Given the description of an element on the screen output the (x, y) to click on. 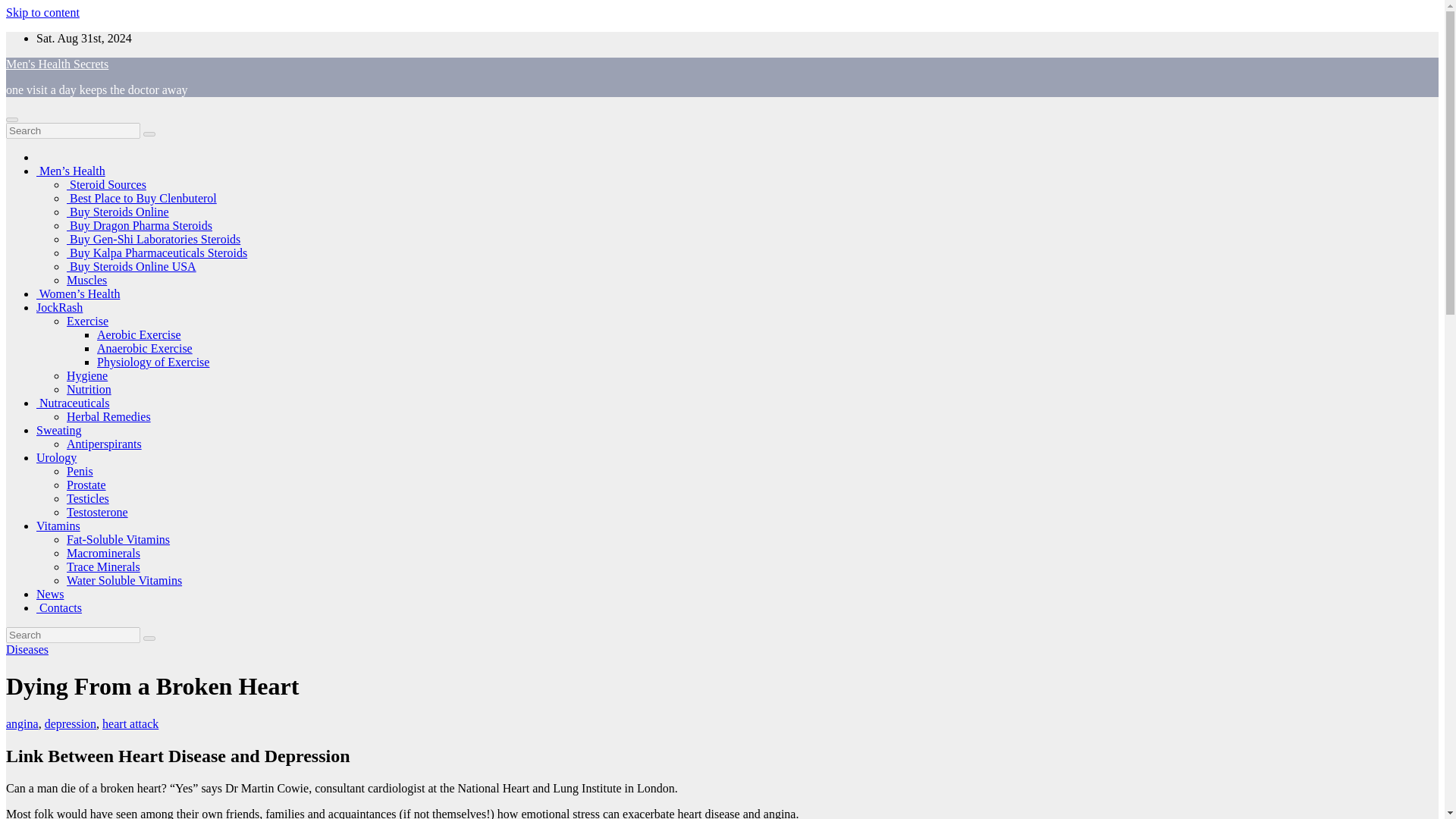
Physiology of Exercise (153, 361)
Legal Gen-Shi Laboratories Steroids (153, 238)
 Buy Steroids Online (117, 211)
 Buy Dragon Pharma Steroids (139, 225)
Antiperspirants (103, 443)
Sweating (58, 430)
 Buy Kalpa Pharmaceuticals Steroids (156, 252)
Anaerobic Exercise (144, 348)
Clenbuterol Pills for Sale (141, 197)
 Nutraceuticals (72, 402)
